Given the description of an element on the screen output the (x, y) to click on. 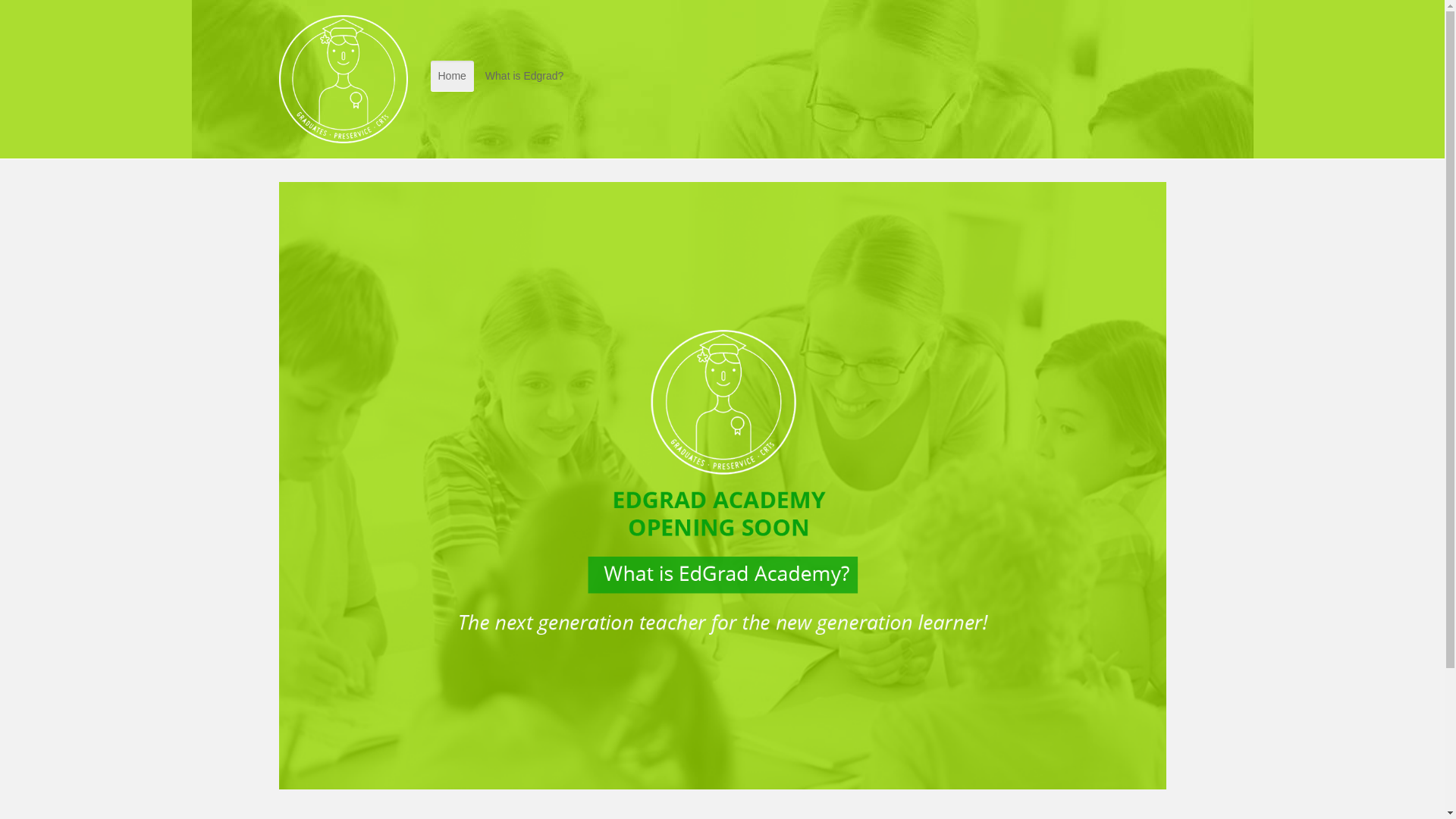
What is Edgrad? Element type: text (524, 75)
Home Element type: text (451, 75)
